Given the description of an element on the screen output the (x, y) to click on. 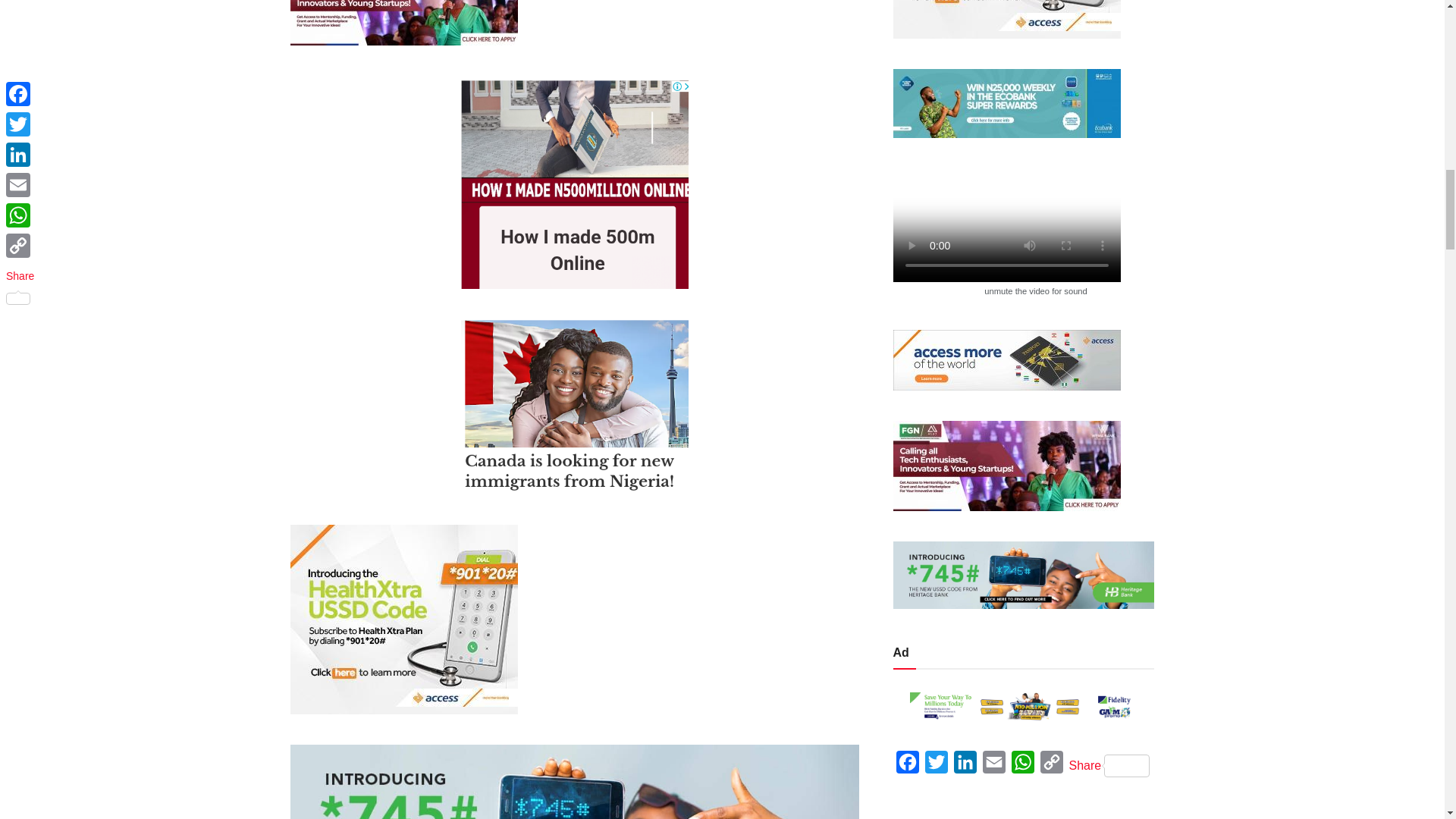
Email (994, 766)
LinkedIn (964, 766)
WhatsApp (1022, 766)
Copy Link (1050, 766)
Twitter (935, 766)
Facebook (907, 766)
